Given the description of an element on the screen output the (x, y) to click on. 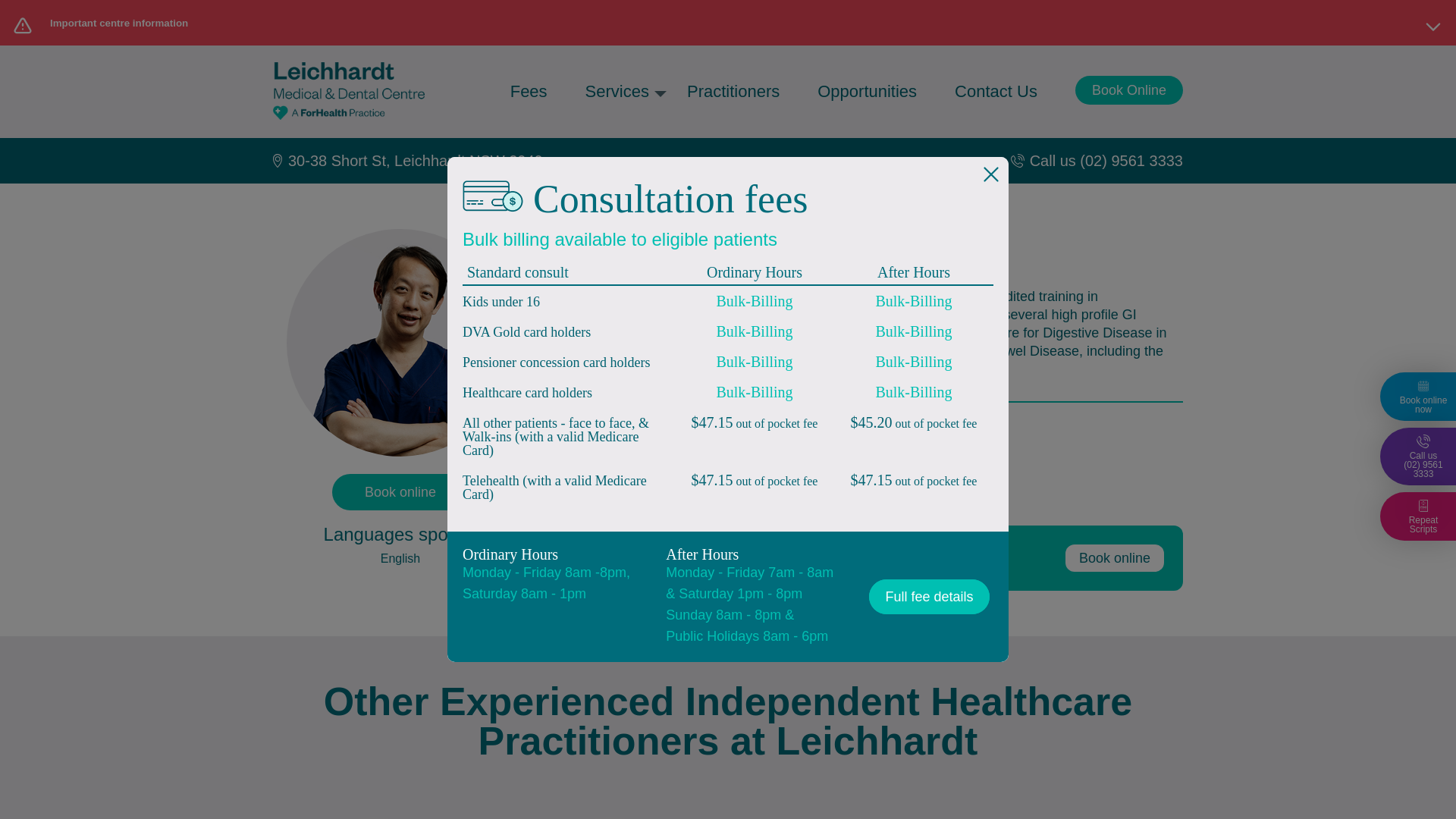
Dr Jefferey Tu (399, 492)
Fees (529, 90)
Contact Us (995, 90)
Dr Jefferey Tu (1114, 557)
Services (617, 90)
Book Online (1128, 90)
Practitioners (732, 90)
Opportunities (866, 90)
